Given the description of an element on the screen output the (x, y) to click on. 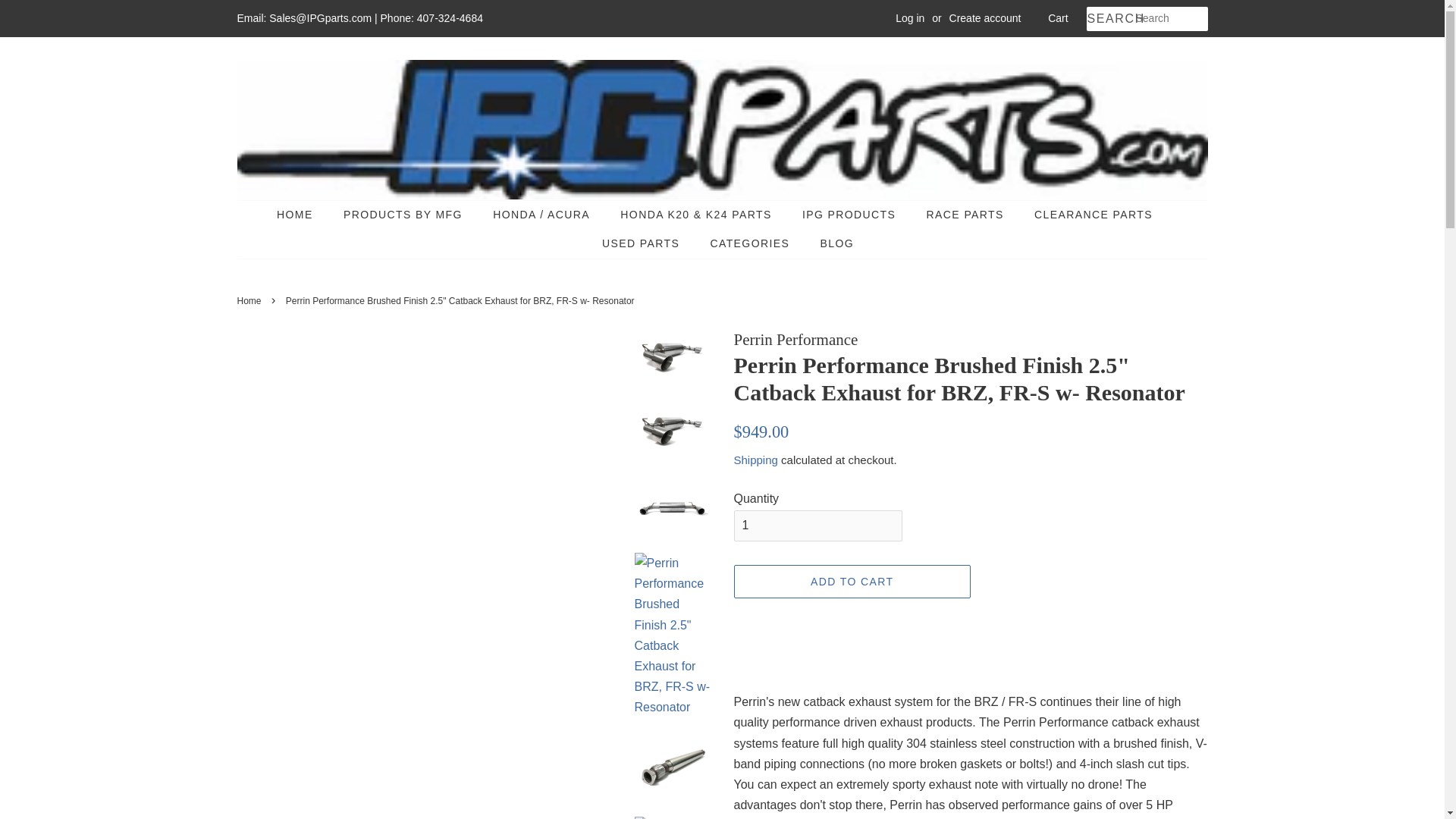
Create account (985, 18)
Back to the frontpage (249, 300)
SEARCH (1110, 18)
1 (817, 525)
Log in (909, 18)
Cart (1057, 18)
